Given the description of an element on the screen output the (x, y) to click on. 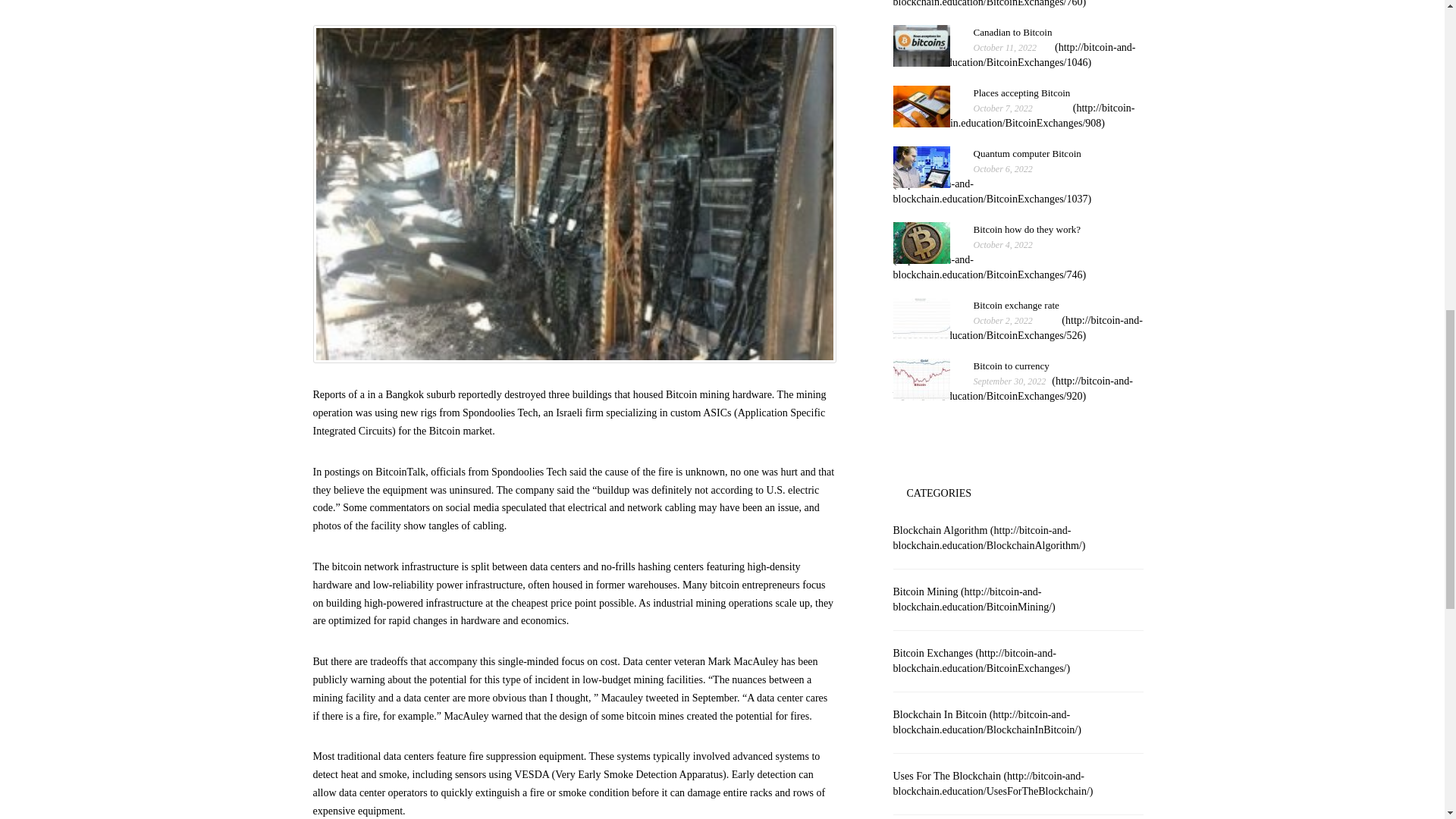
Bitcoin Exchanges (992, 183)
Blockchain Algorithm (1017, 327)
View all posts filed under Uses For The Blockchain (981, 660)
Uses For The Blockchain (1012, 388)
